Given the description of an element on the screen output the (x, y) to click on. 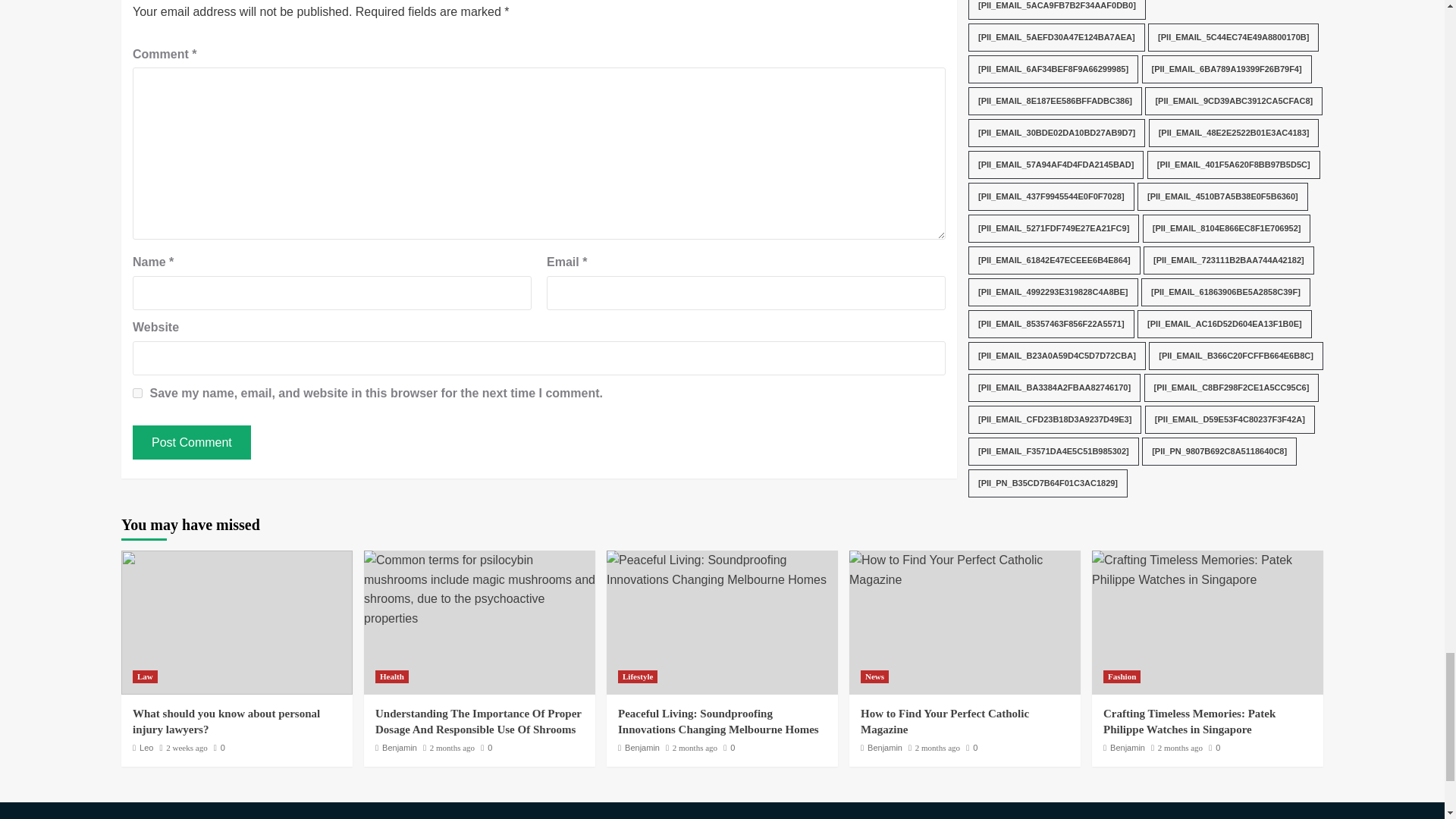
Post Comment (191, 442)
yes (137, 393)
